Given the description of an element on the screen output the (x, y) to click on. 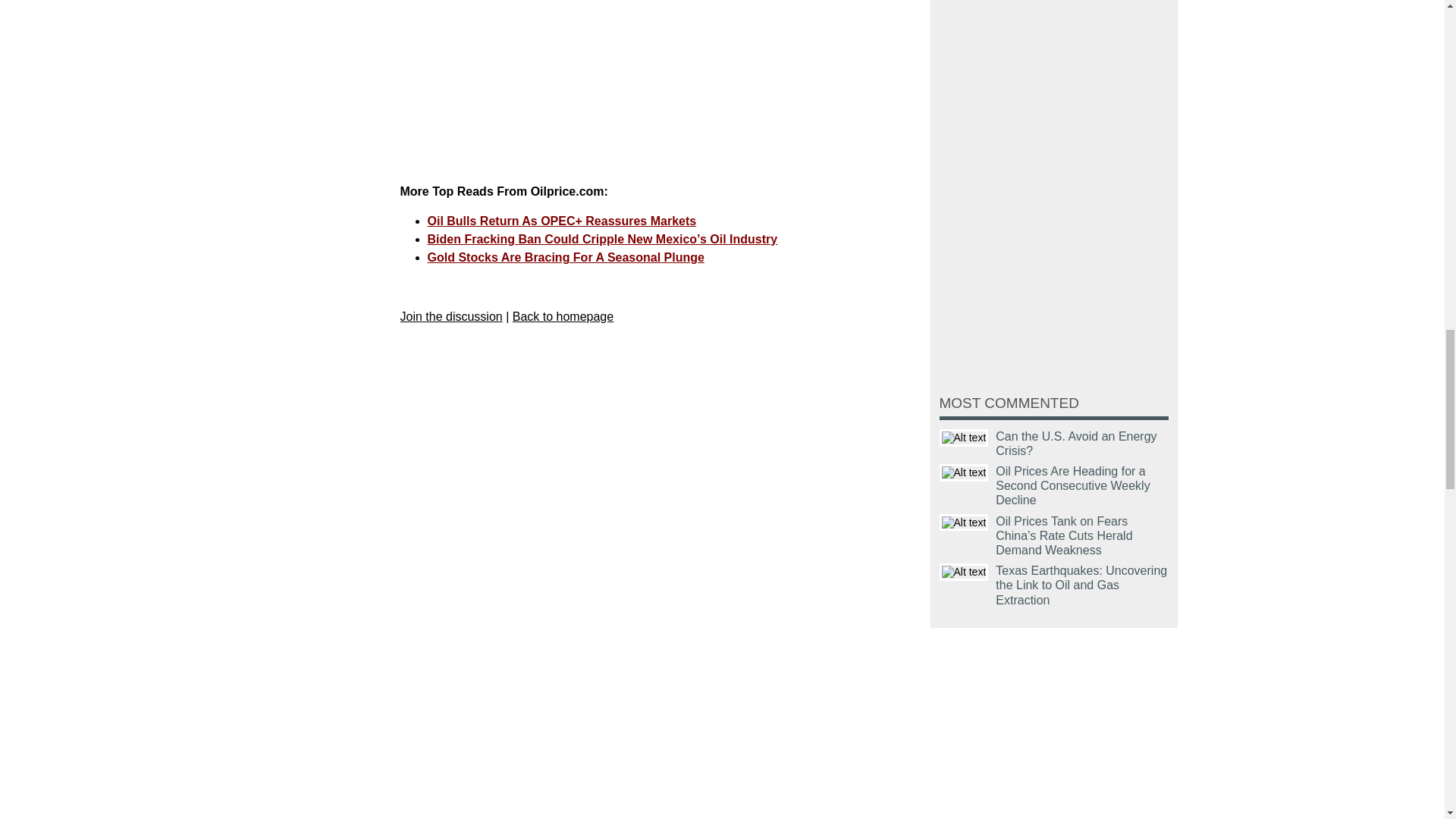
Title text (963, 571)
Title text (963, 472)
Title text (963, 437)
Title text (963, 522)
